Given the description of an element on the screen output the (x, y) to click on. 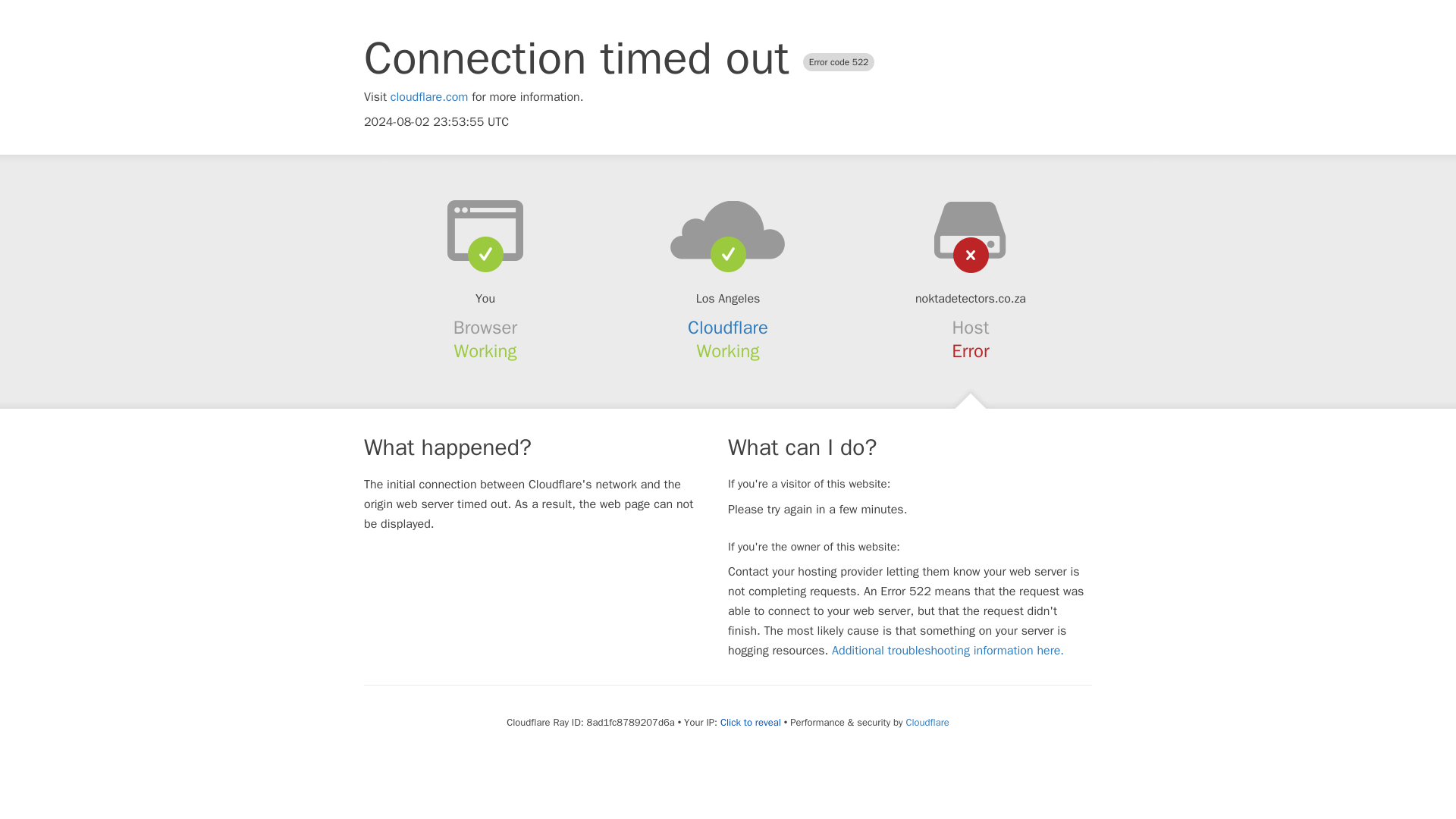
Cloudflare (727, 327)
Click to reveal (750, 722)
Additional troubleshooting information here. (947, 650)
Cloudflare (927, 721)
cloudflare.com (429, 96)
